Given the description of an element on the screen output the (x, y) to click on. 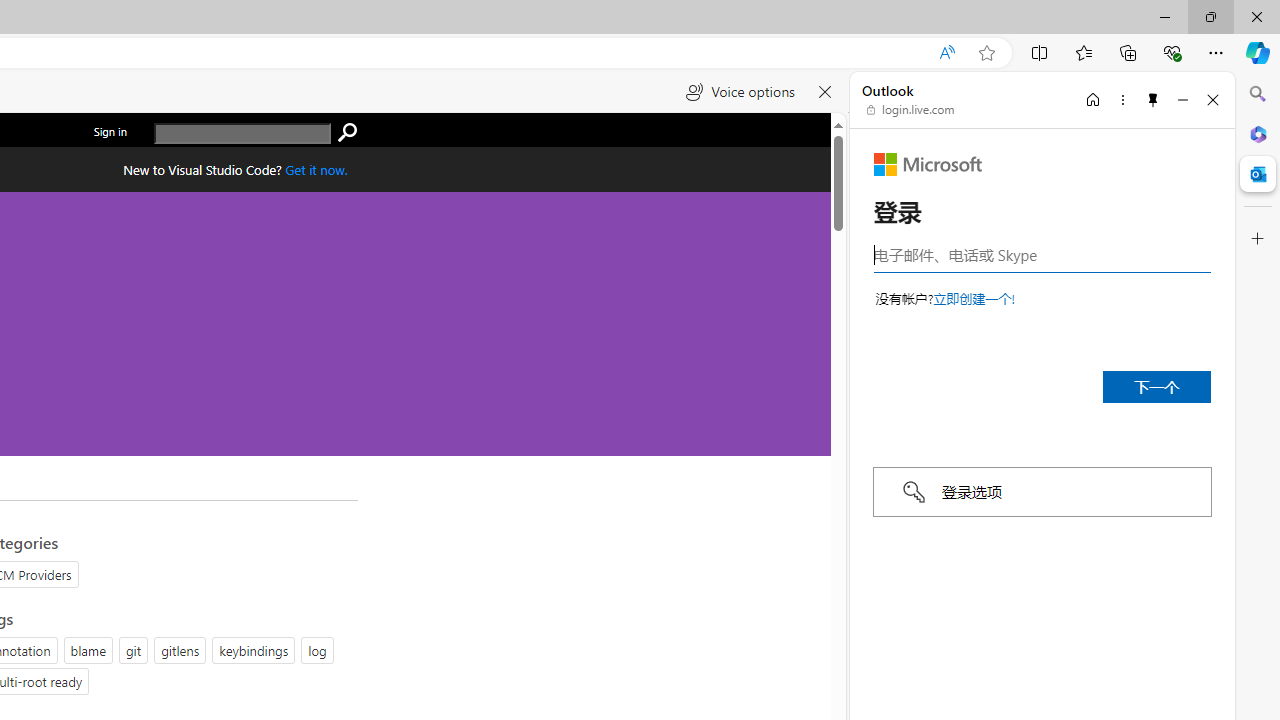
Close read aloud (825, 92)
